Given the description of an element on the screen output the (x, y) to click on. 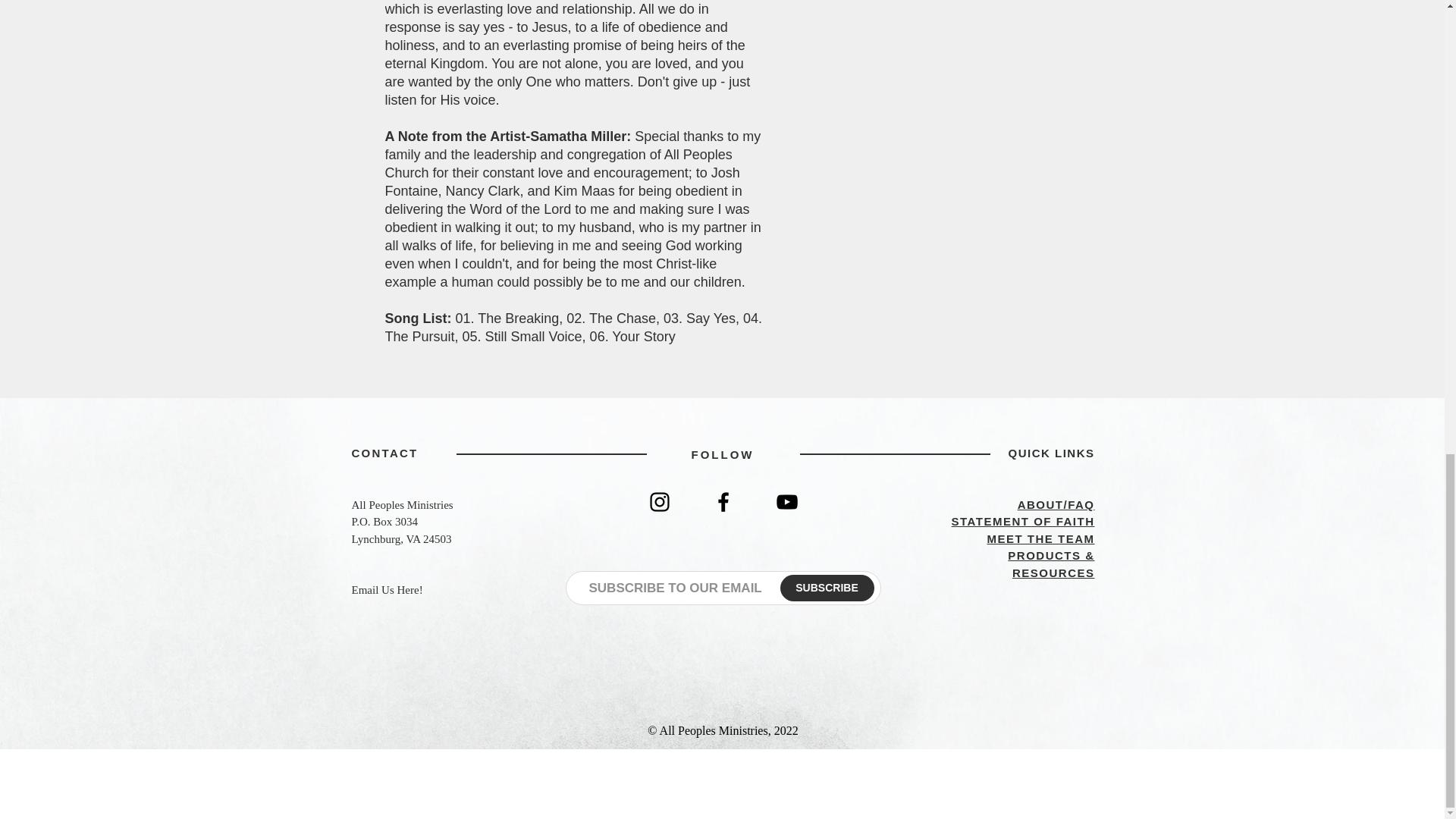
Email Us Here! (387, 589)
SUBSCRIBE (825, 587)
MEET THE TEAM (1040, 538)
STATEMENT OF FAITH (1023, 521)
